Given the description of an element on the screen output the (x, y) to click on. 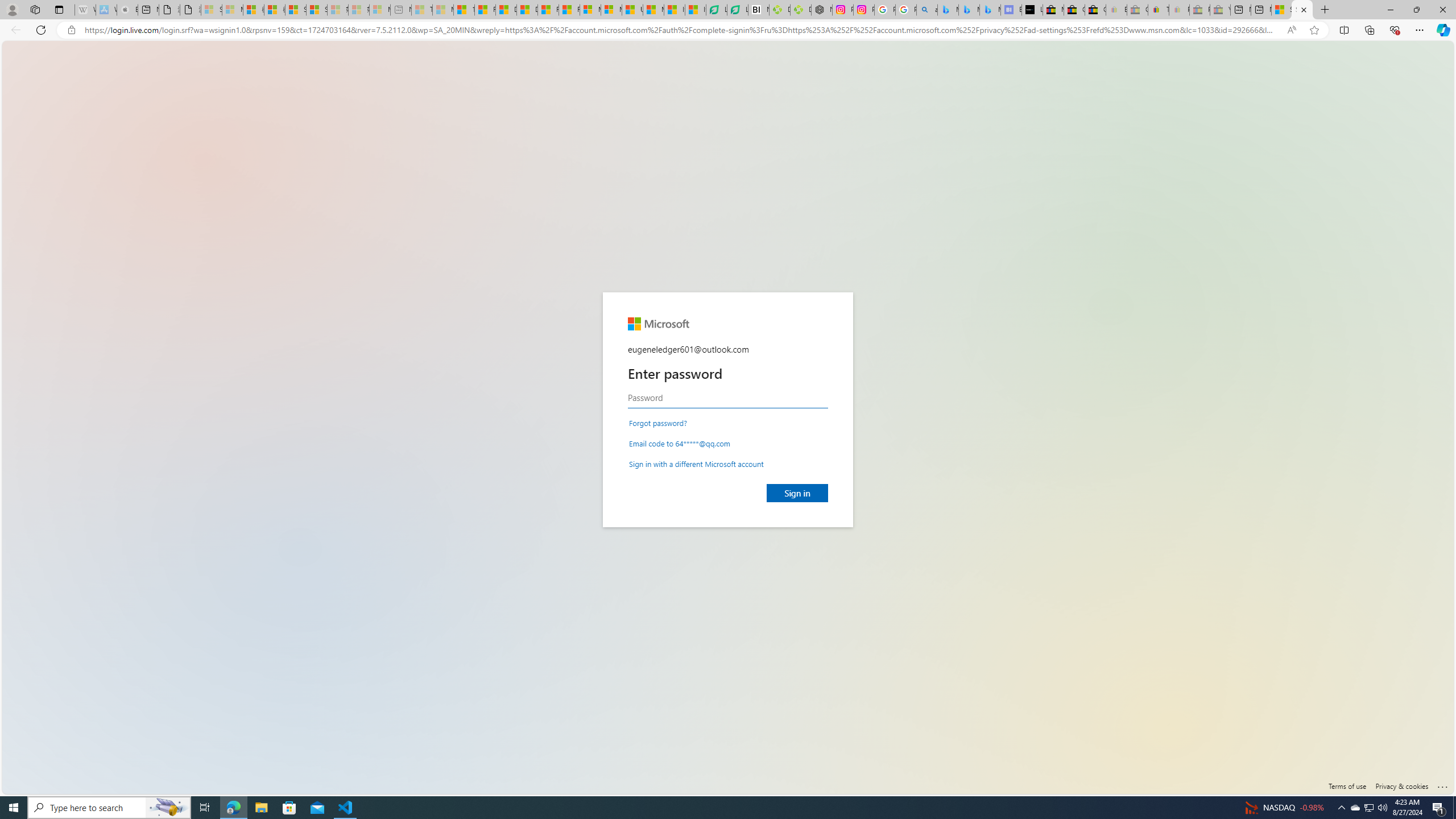
Nordace - Nordace Edin Collection (821, 9)
Nvidia va a poner a prueba la paciencia de los inversores (759, 9)
LendingTree - Compare Lenders (737, 9)
Enter the password for eugeneledger601@outlook.com (727, 397)
